Given the description of an element on the screen output the (x, y) to click on. 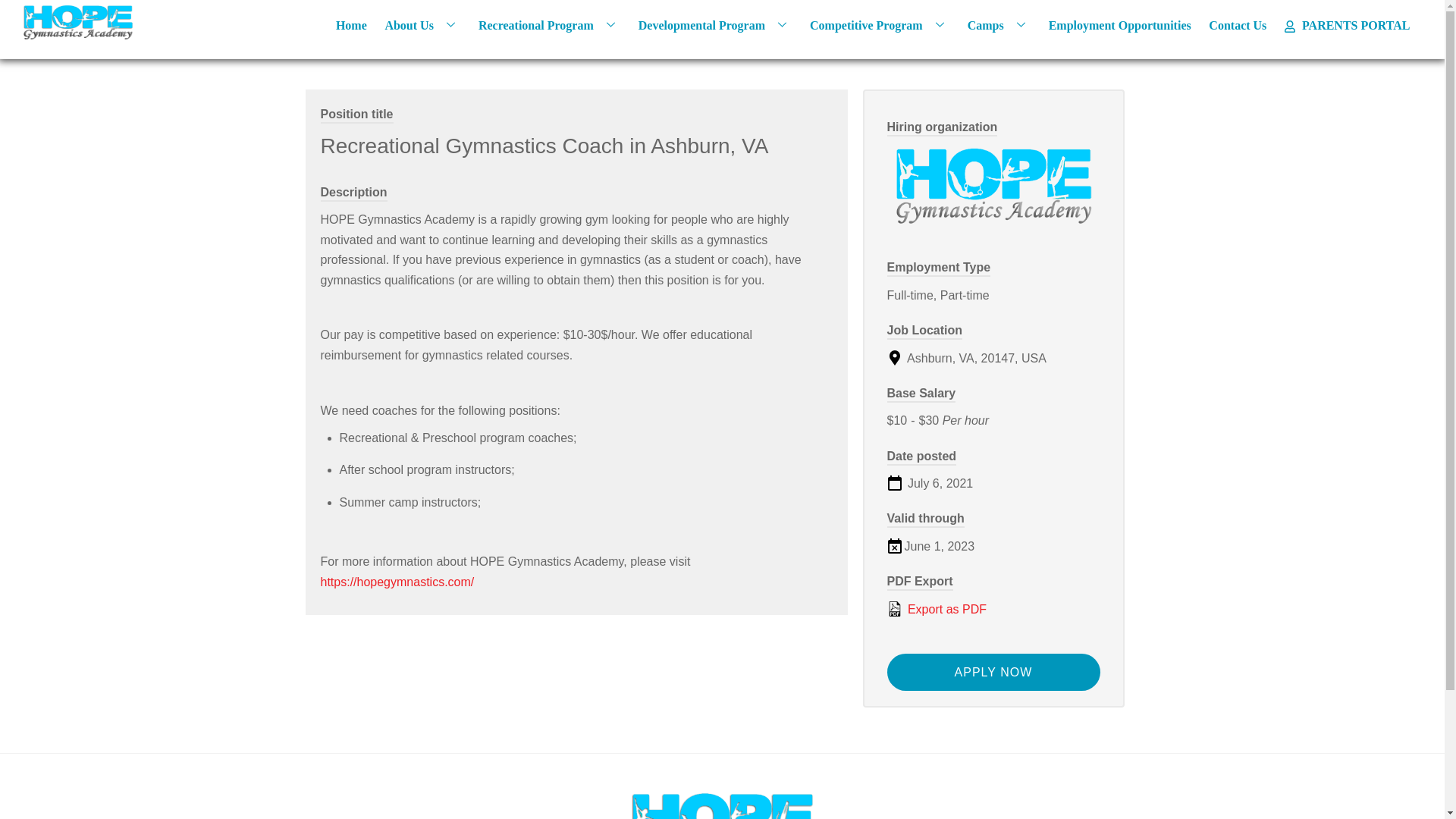
Camps (998, 23)
Developmental Program (714, 23)
Recreational Program (548, 23)
HOPE Gymnastics Academy (78, 33)
Export as PDF (993, 609)
logo-final (78, 22)
logo-final (721, 804)
Contact Us (1238, 23)
About Us (422, 23)
APPLY NOW (993, 672)
Employment Opportunities (1119, 23)
PARENTS PORTAL (1346, 23)
Hope Gymnastics (993, 185)
Home (351, 23)
